Given the description of an element on the screen output the (x, y) to click on. 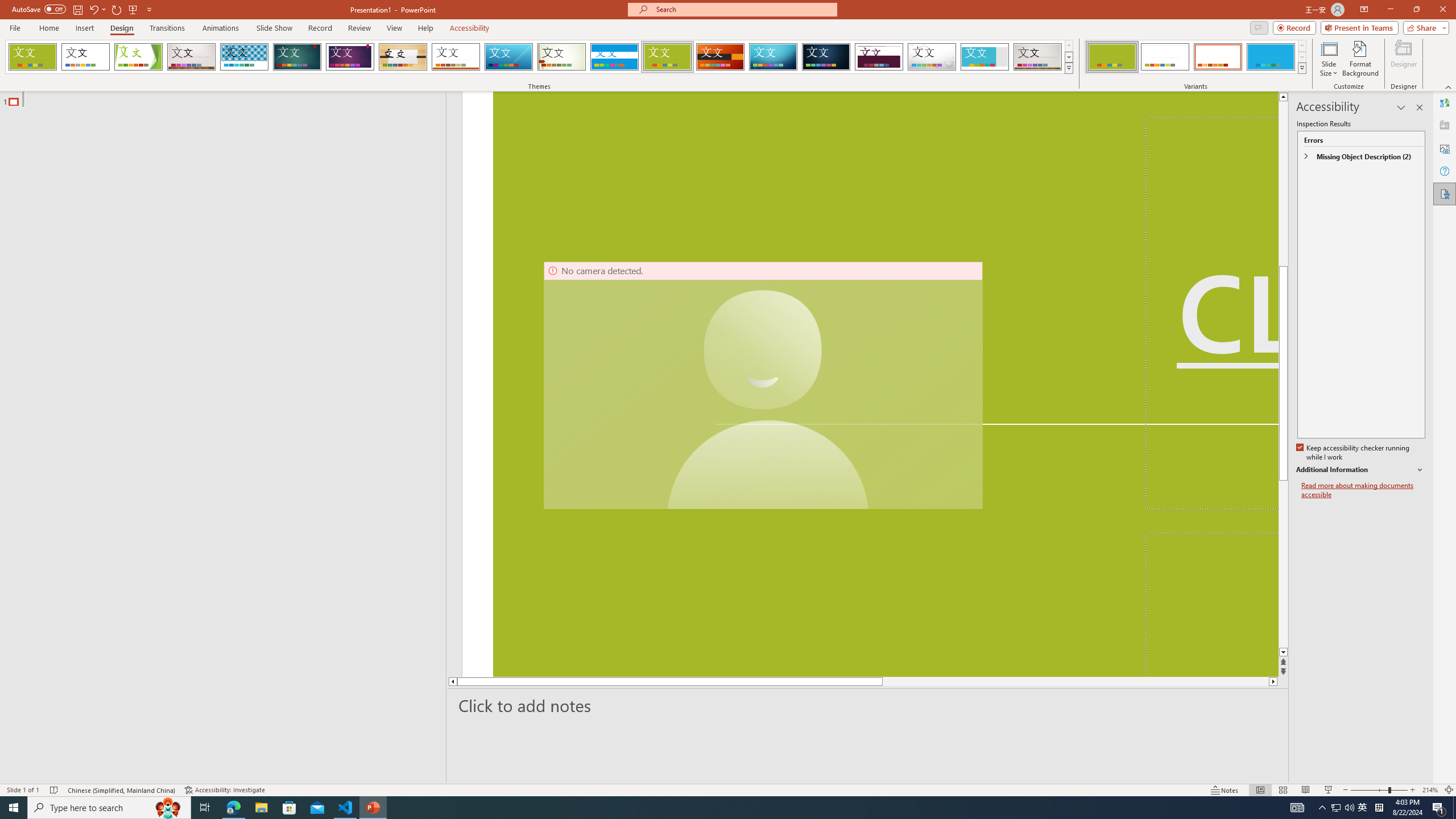
Integral (244, 56)
Office Theme (85, 56)
Camera 7, No camera detected. (762, 385)
